Given the description of an element on the screen output the (x, y) to click on. 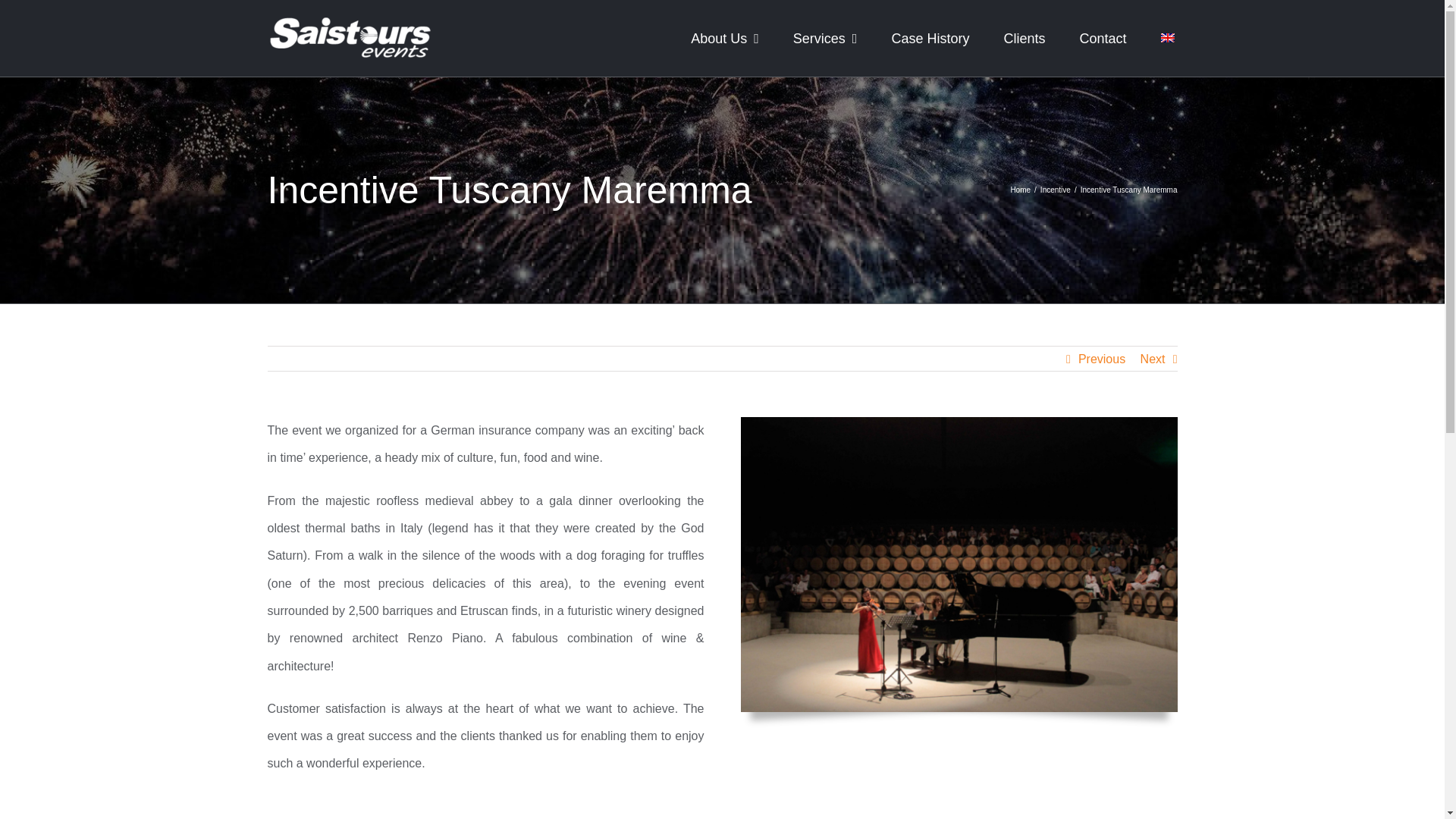
Case History (930, 38)
English (1166, 37)
Home (1020, 189)
Incentive (1055, 189)
Previous (1101, 359)
About Us (724, 38)
Next (1153, 359)
